Given the description of an element on the screen output the (x, y) to click on. 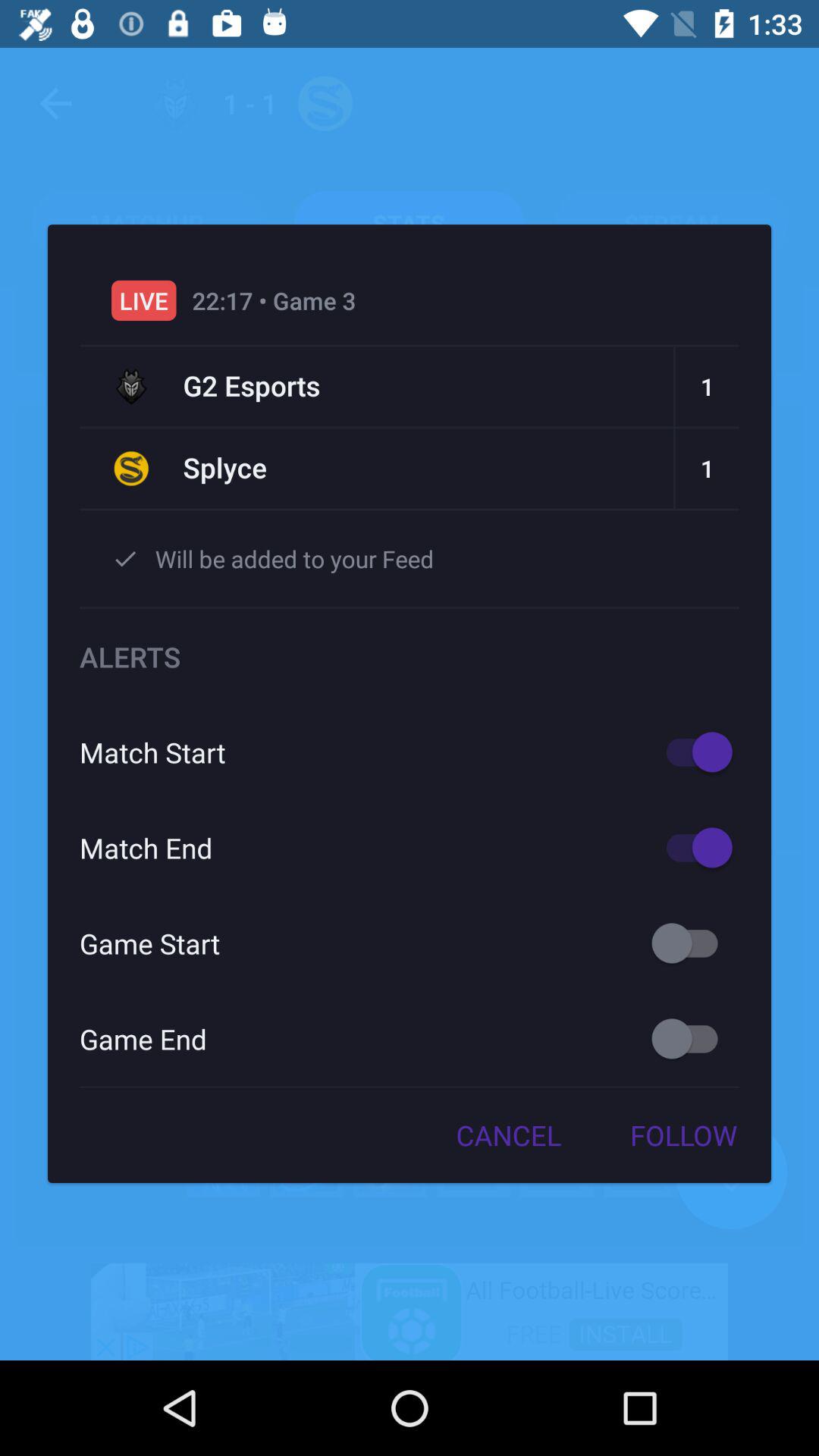
it is on/of key (691, 943)
